Given the description of an element on the screen output the (x, y) to click on. 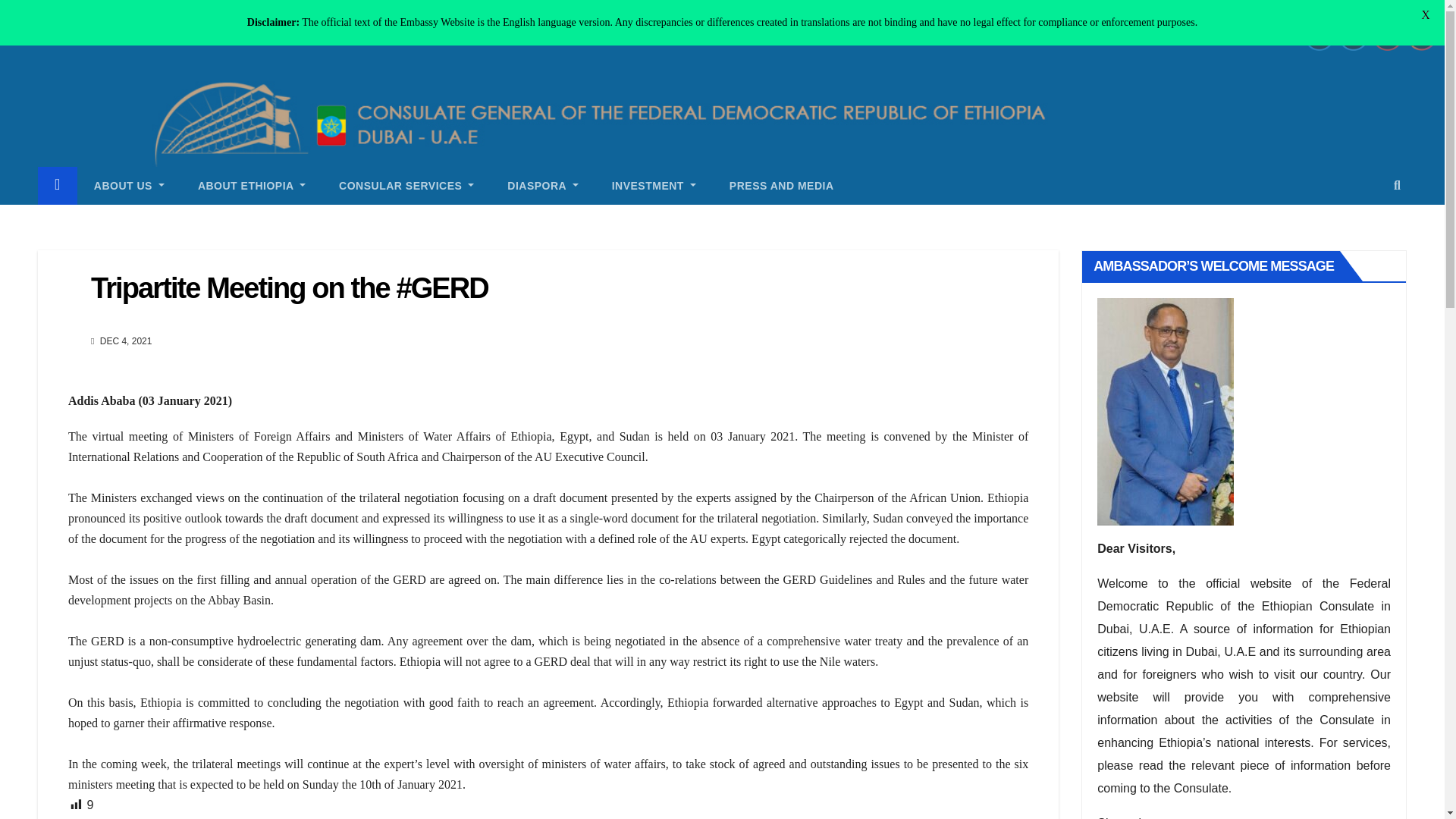
DIASPORA (542, 185)
INVESTMENT (654, 185)
CONSULAR SERVICES (405, 185)
ABOUT ETHIOPIA (250, 185)
About Ethiopia (250, 185)
About Us (128, 185)
ABOUT US (128, 185)
